Given the description of an element on the screen output the (x, y) to click on. 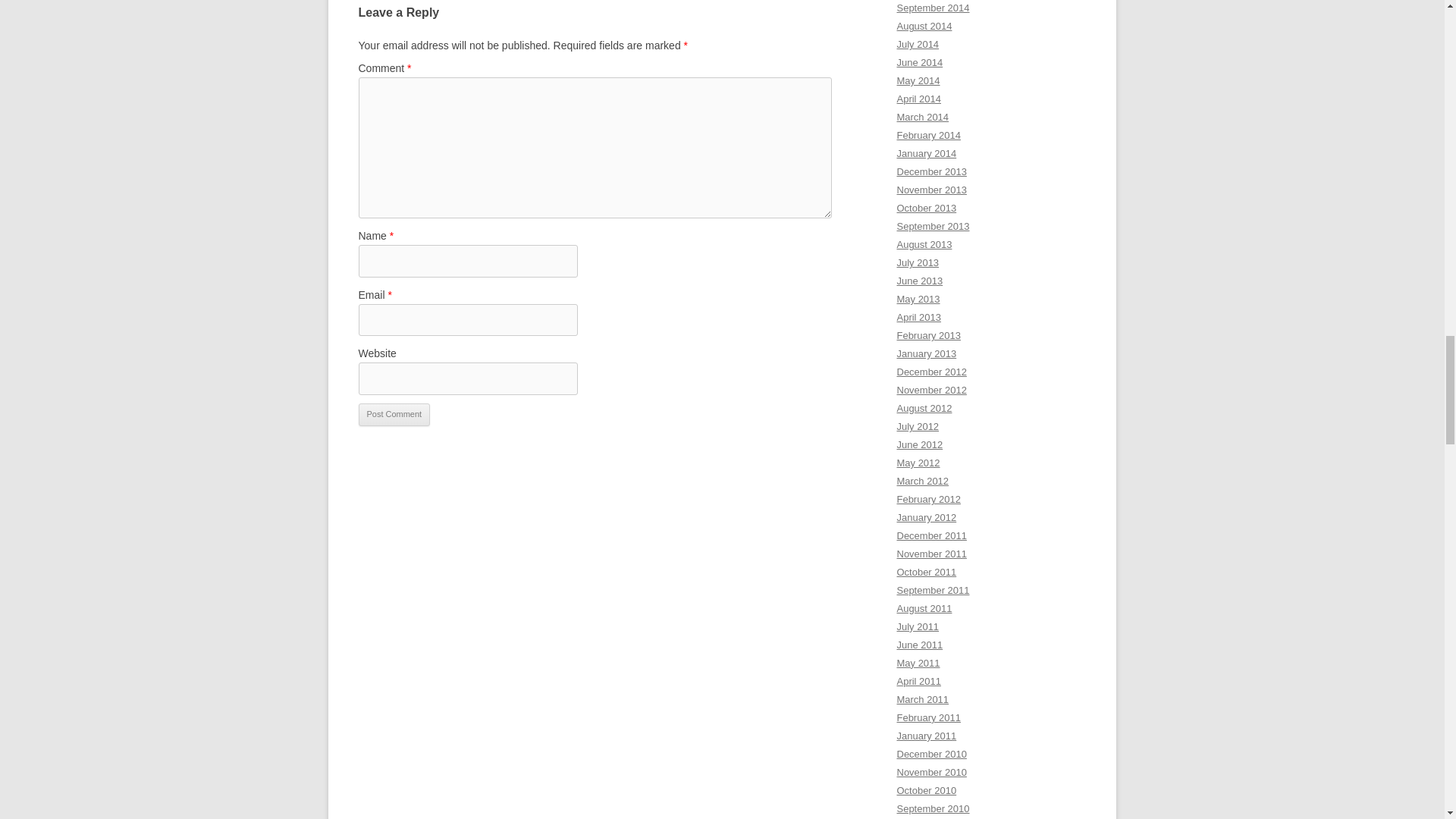
Post Comment (393, 414)
Post Comment (393, 414)
